Given the description of an element on the screen output the (x, y) to click on. 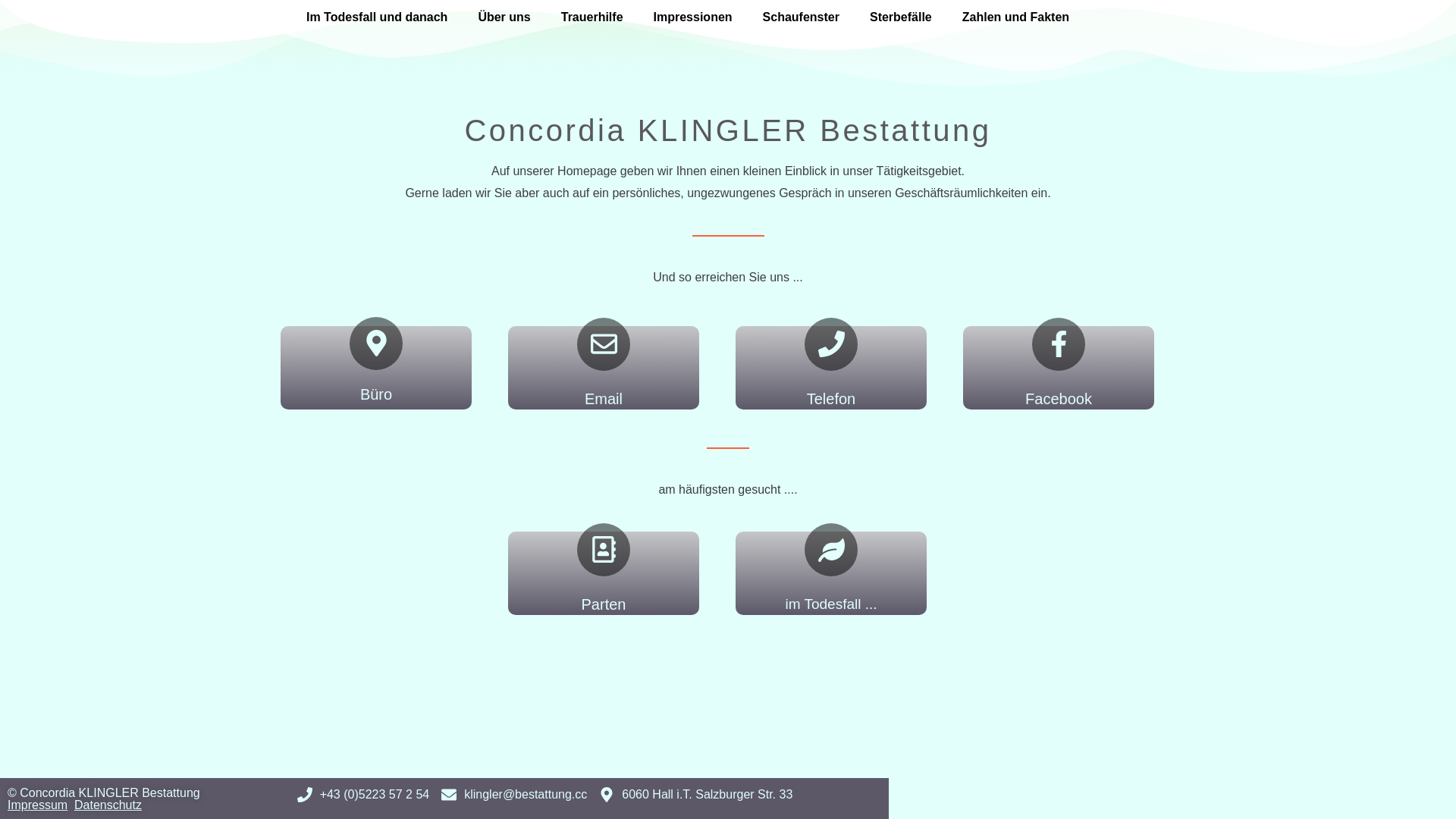
Schaufenster Element type: text (800, 17)
Impressionen Element type: text (692, 17)
Im Todesfall Element type: text (830, 573)
6060 Hall i.T. Salzburger Str. 33 Element type: text (695, 794)
Telefon
+43 5223 57 2 54
24h - 7 Tage/Woche! Element type: text (830, 367)
Datenschutz Element type: text (107, 804)
Im Todesfall und danach Element type: text (376, 17)
+43 (0)5223 57 2 54 Element type: text (363, 794)
Trauerhilfe Element type: text (592, 17)
klingler@bestattung.cc Element type: text (513, 794)
Facebook
Bestattung Klingler Element type: text (1058, 367)
Impressum Element type: text (37, 804)
Email ...
... mit Ihrem Anliegen Element type: text (603, 367)
Zahlen und Fakten Element type: text (1015, 17)
Parten Element type: text (603, 573)
